Given the description of an element on the screen output the (x, y) to click on. 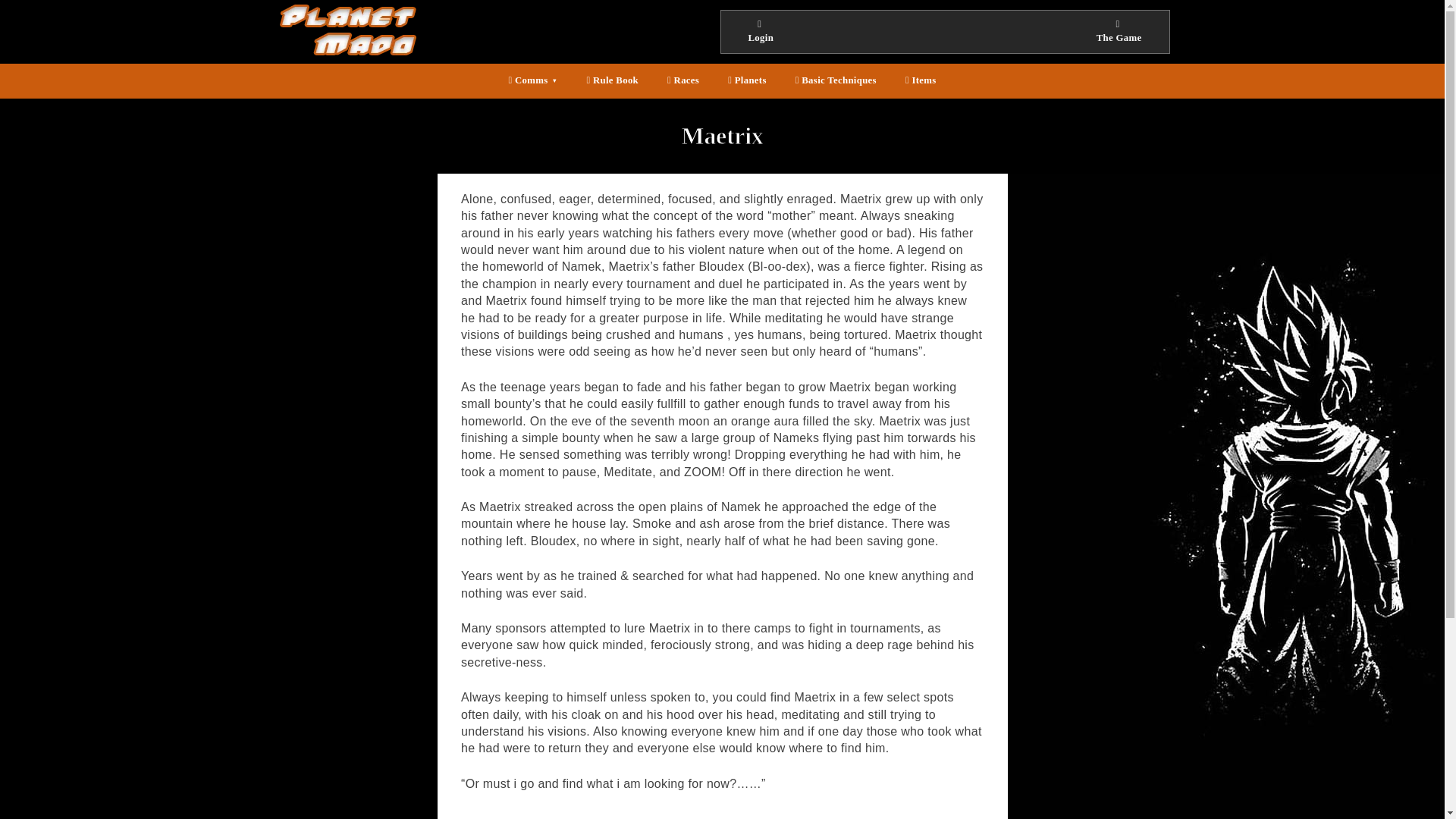
Basic Techniques (836, 81)
Login (759, 31)
Planets (746, 81)
Rule Book (612, 81)
Items (920, 81)
Races (683, 81)
Comms (532, 81)
Planet Mado (313, 67)
The Game (1119, 31)
